Given the description of an element on the screen output the (x, y) to click on. 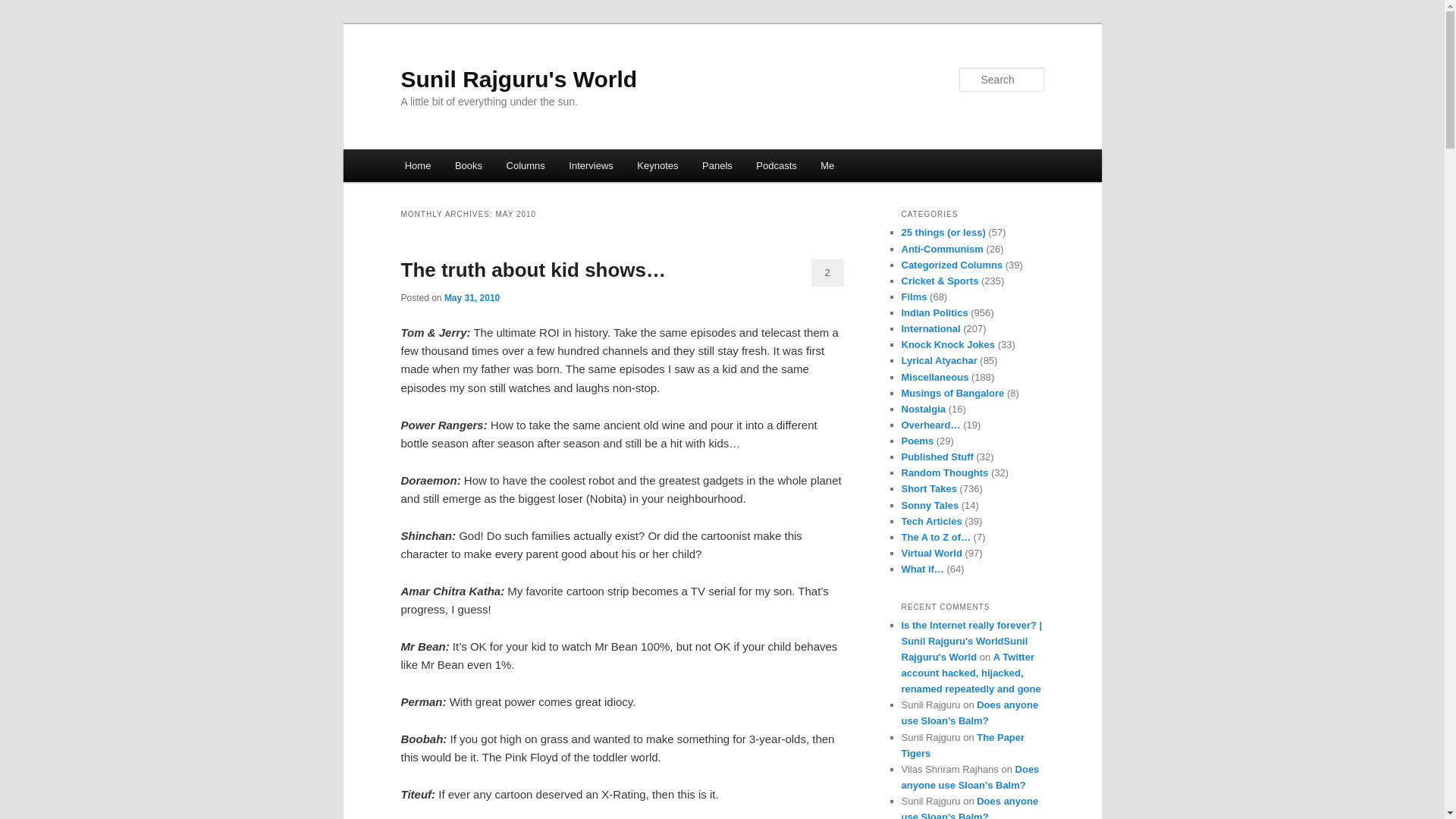
Podcasts (776, 165)
Panels (717, 165)
Skip to secondary content (479, 168)
Search (24, 8)
Sunil Rajguru's World (518, 78)
Home (417, 165)
1:40 pm (471, 297)
Keynotes (658, 165)
Books (468, 165)
May 31, 2010 (471, 297)
